Given the description of an element on the screen output the (x, y) to click on. 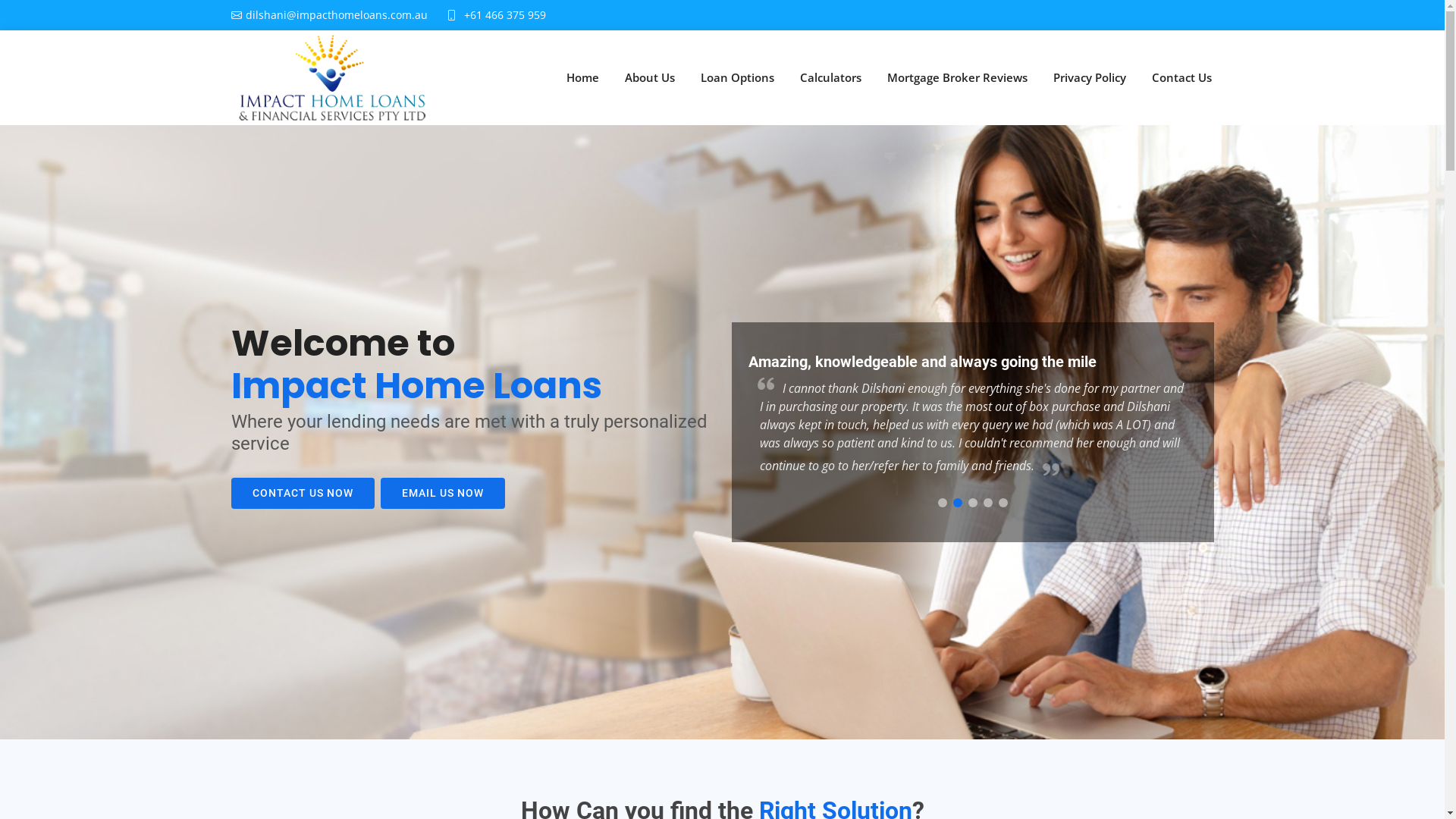
About Us Element type: text (648, 77)
CONTACT US NOW Element type: text (301, 492)
Mortgage Broker Reviews Element type: text (956, 77)
Privacy Policy Element type: text (1089, 77)
Calculators Element type: text (830, 77)
Loan Options Element type: text (736, 77)
Contact Us Element type: text (1181, 77)
EMAIL US NOW Element type: text (442, 492)
Home Element type: text (582, 77)
